Given the description of an element on the screen output the (x, y) to click on. 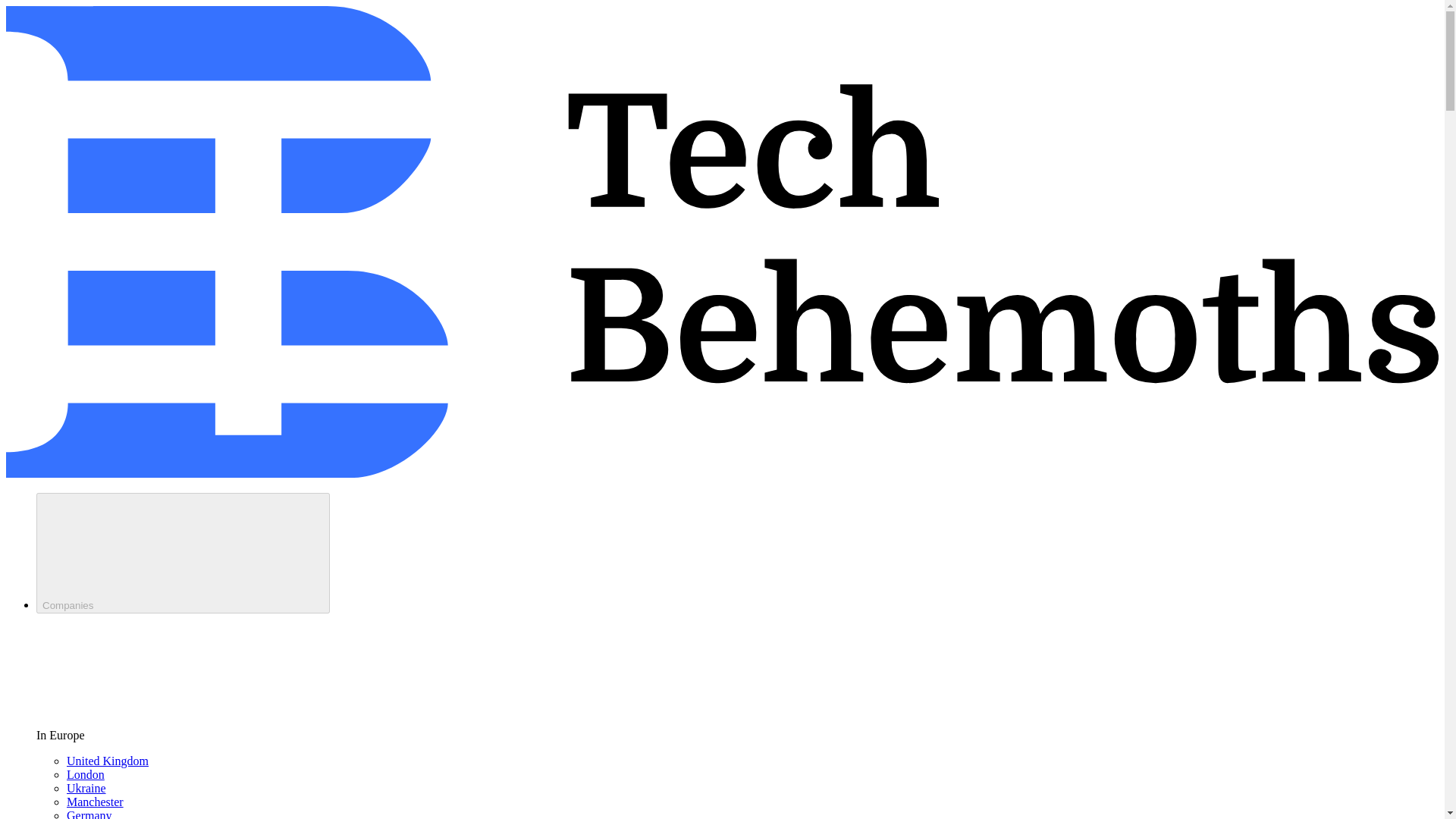
London (85, 774)
United Kingdom (107, 760)
Companies (183, 553)
Germany (89, 814)
Manchester (94, 801)
Ukraine (86, 788)
